Given the description of an element on the screen output the (x, y) to click on. 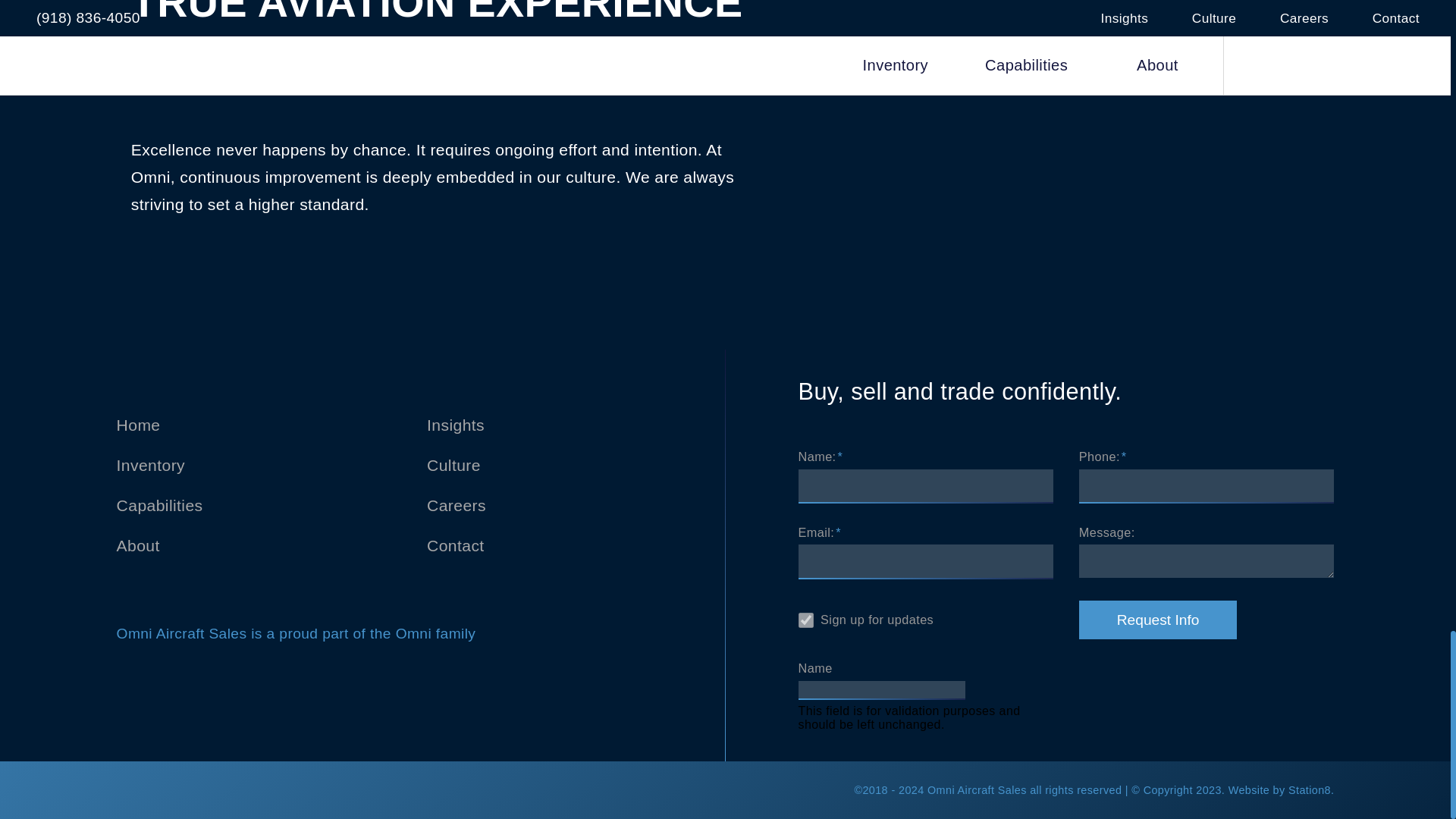
Sign up for updates (804, 620)
Inventory (150, 465)
Home (138, 425)
Request Info (1157, 619)
About (138, 545)
Contact (455, 545)
Capabilities (159, 505)
Culture (453, 465)
Careers (456, 505)
Insights (455, 425)
